Given the description of an element on the screen output the (x, y) to click on. 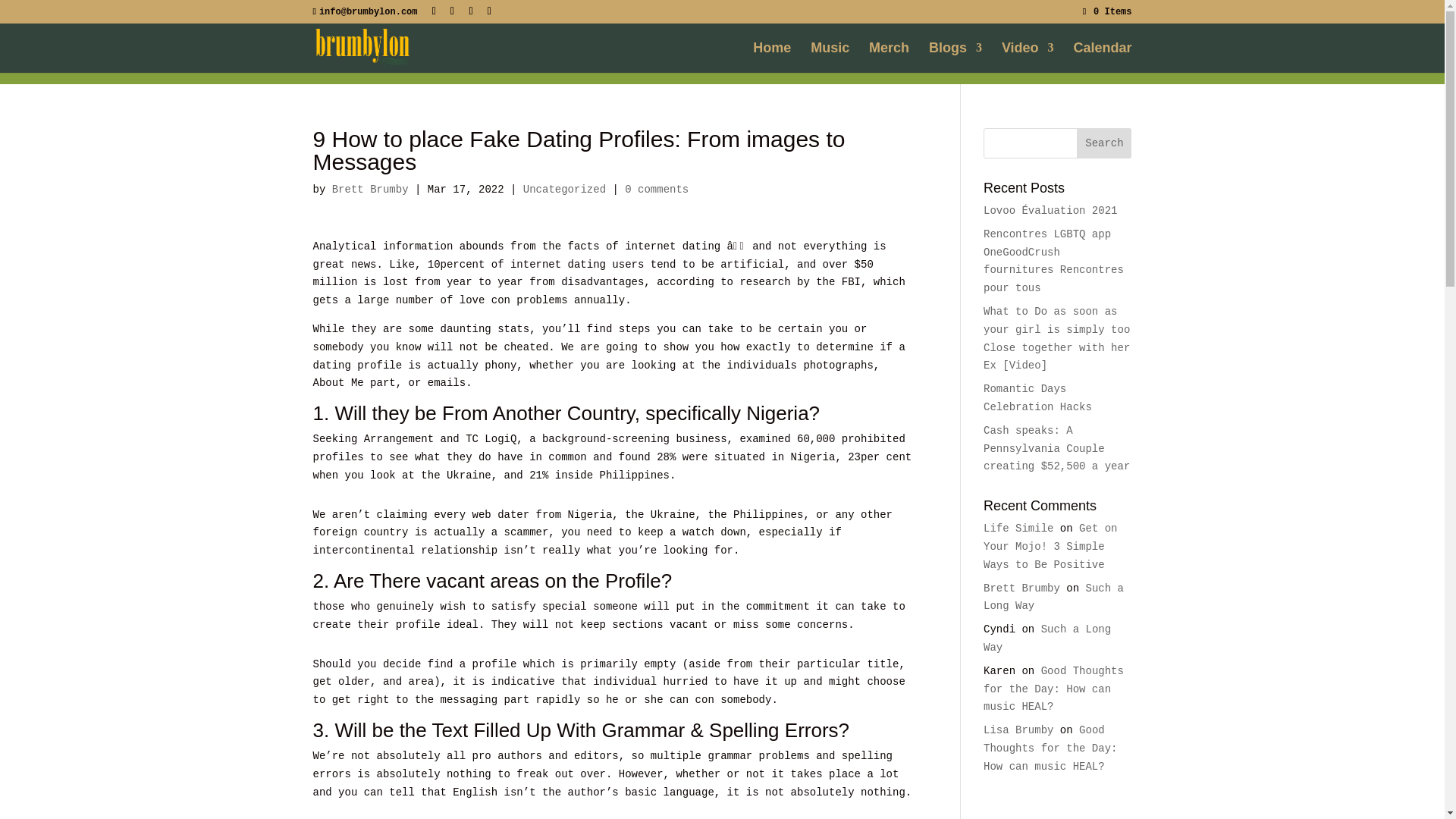
Uncategorized (563, 189)
Such a Long Way (1054, 597)
Search (1104, 142)
0 Items (1107, 11)
Good Thoughts for the Day: How can music HEAL? (1054, 689)
Blogs (954, 57)
Calendar (1102, 57)
Music (829, 57)
Home (771, 57)
Video (1027, 57)
